Given the description of an element on the screen output the (x, y) to click on. 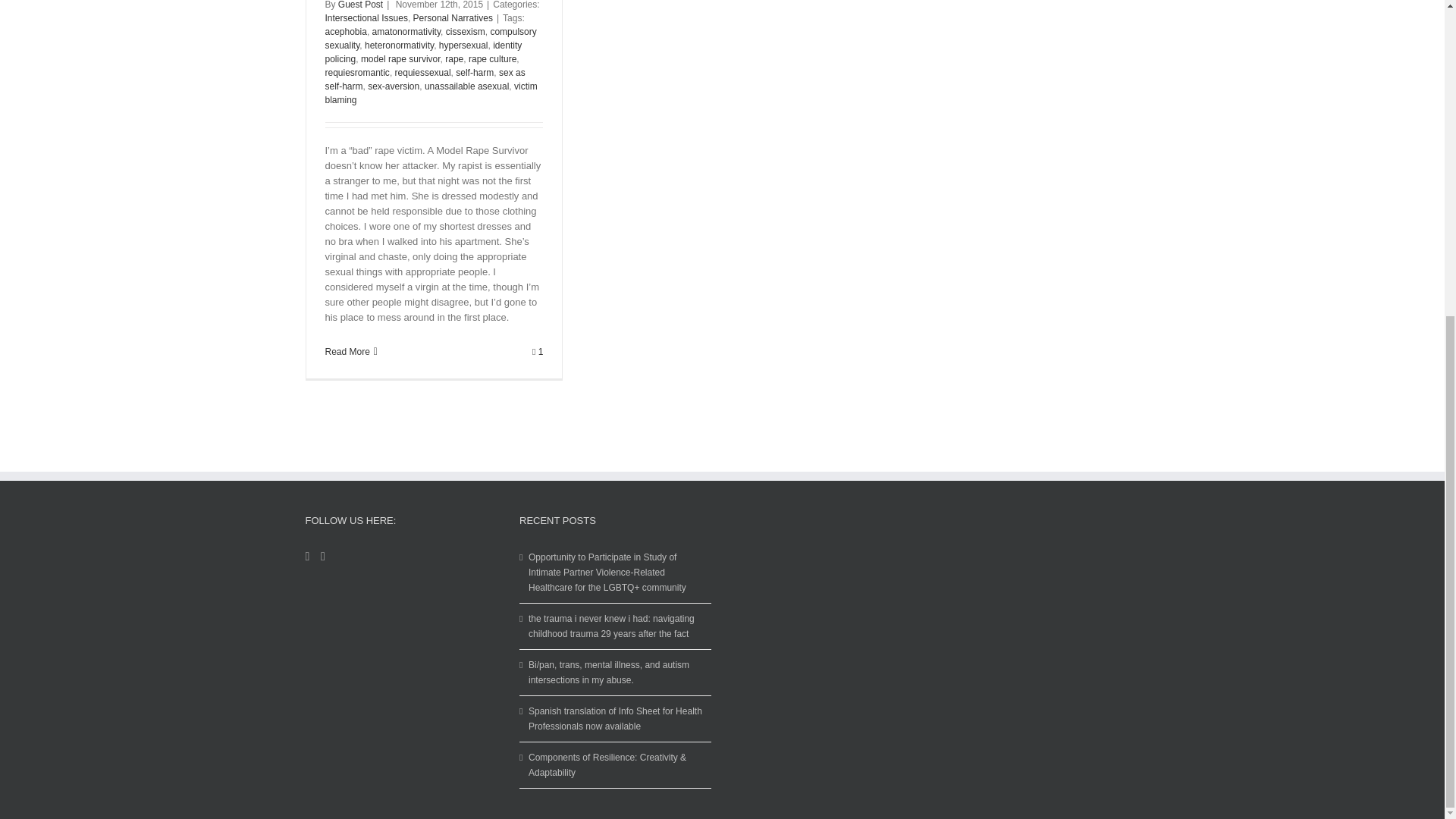
Posts by Guest Post (359, 4)
